Given the description of an element on the screen output the (x, y) to click on. 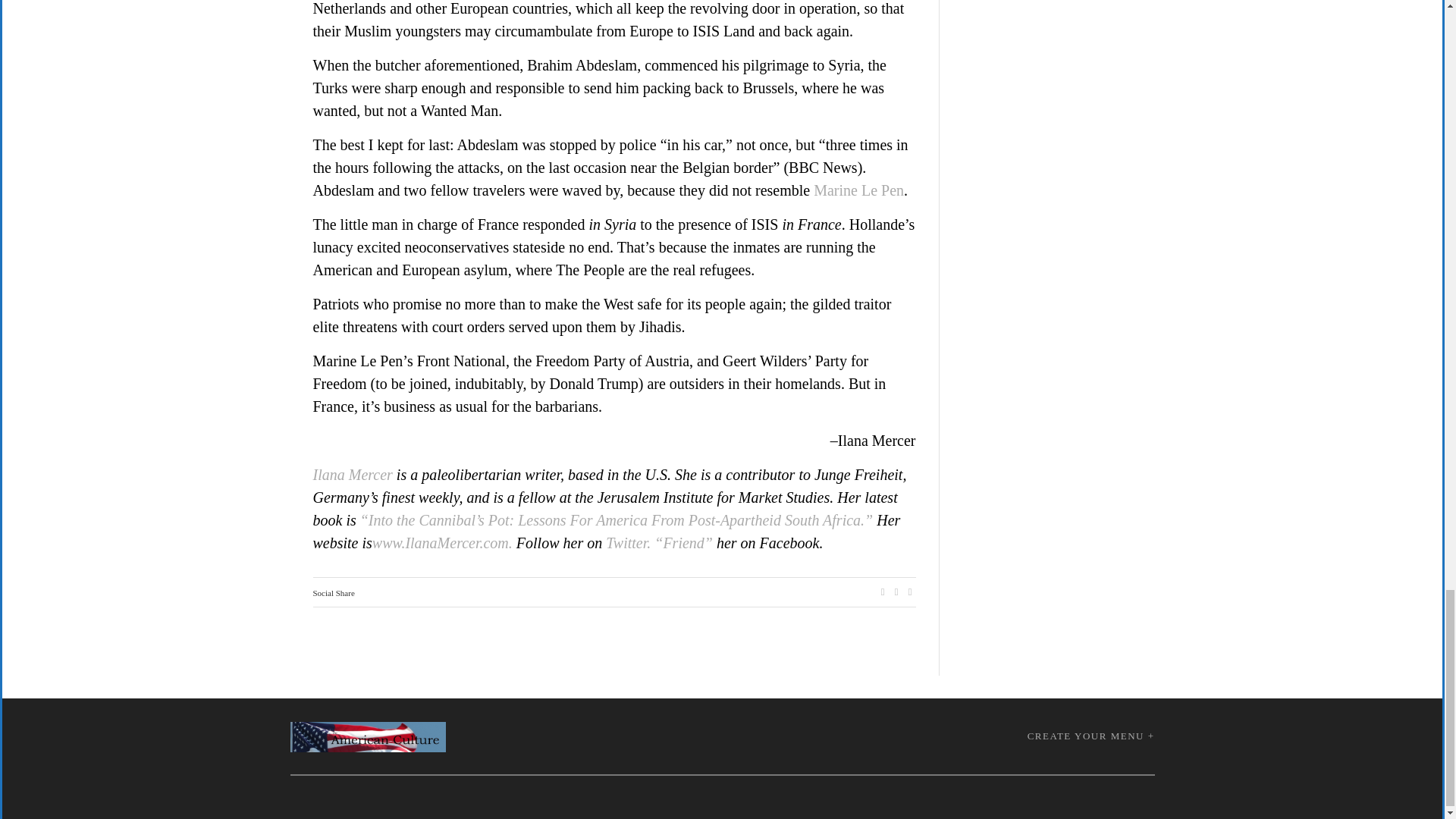
Twitter. (627, 542)
www.IlanaMercer.com. (442, 542)
Ilana Mercer (352, 474)
Marine Le Pen (858, 190)
